Given the description of an element on the screen output the (x, y) to click on. 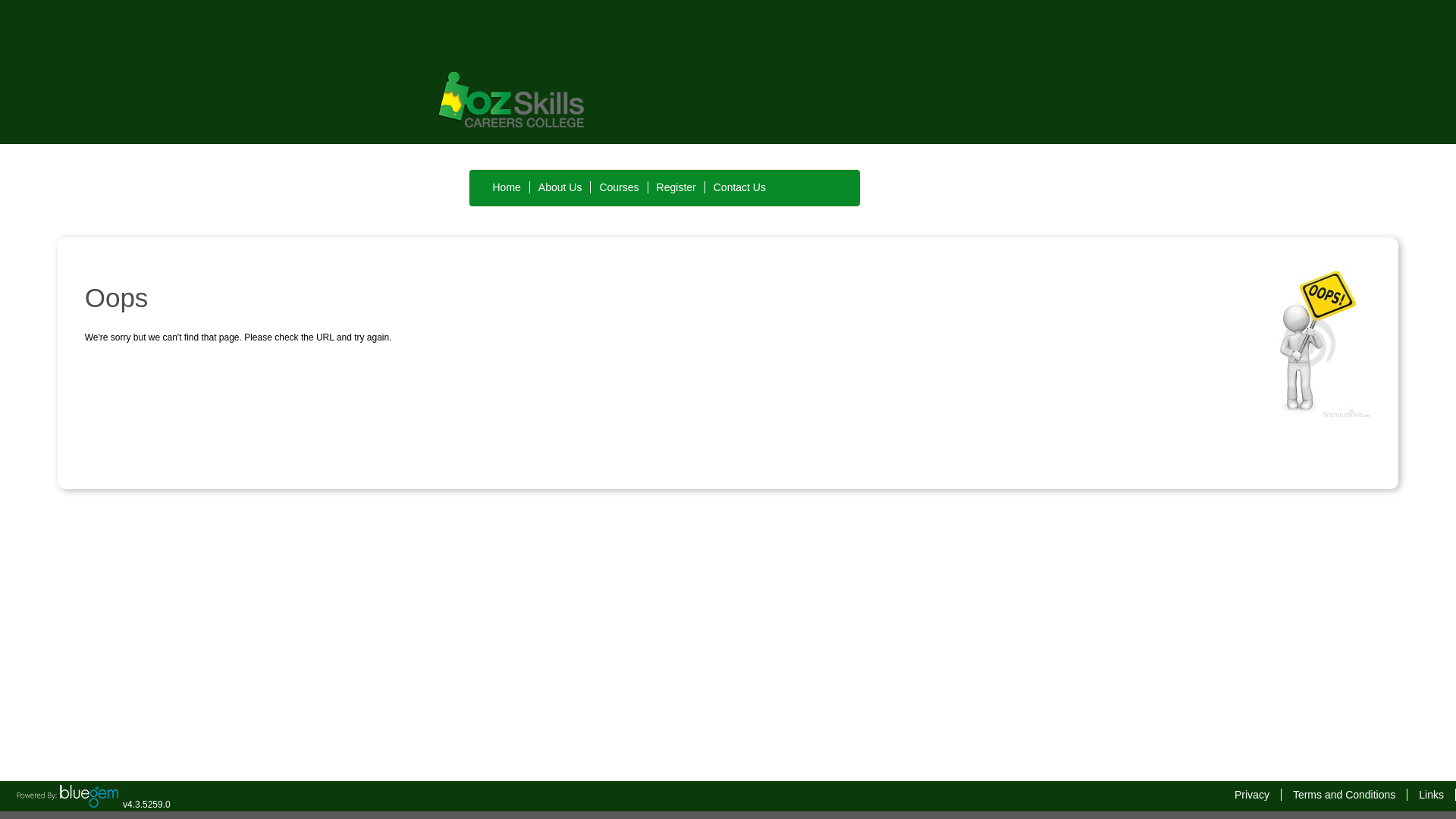
Privacy Element type: text (1251, 794)
BluegemExplore - Training Management Systems Element type: hover (66, 804)
Home Element type: text (506, 187)
Courses Element type: text (618, 187)
Contact Us Element type: text (739, 187)
Register Element type: text (676, 187)
Links Element type: text (1430, 794)
Terms and Conditions Element type: text (1343, 794)
About Us Element type: text (560, 187)
